Given the description of an element on the screen output the (x, y) to click on. 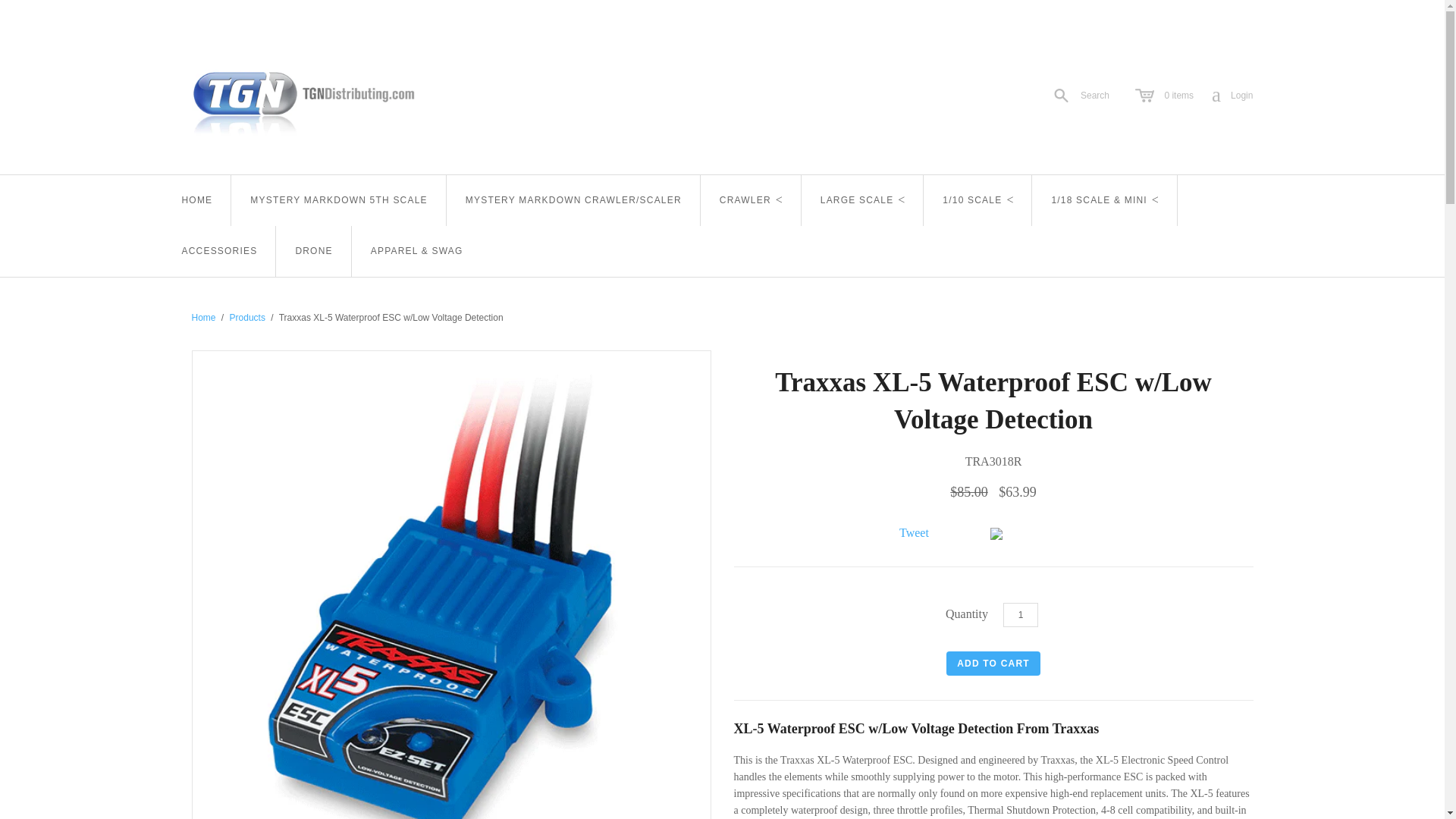
Add to cart (993, 663)
1 (1231, 95)
HOME (1020, 614)
MYSTERY MARKDOWN 5TH SCALE (196, 200)
Search (338, 200)
